Given the description of an element on the screen output the (x, y) to click on. 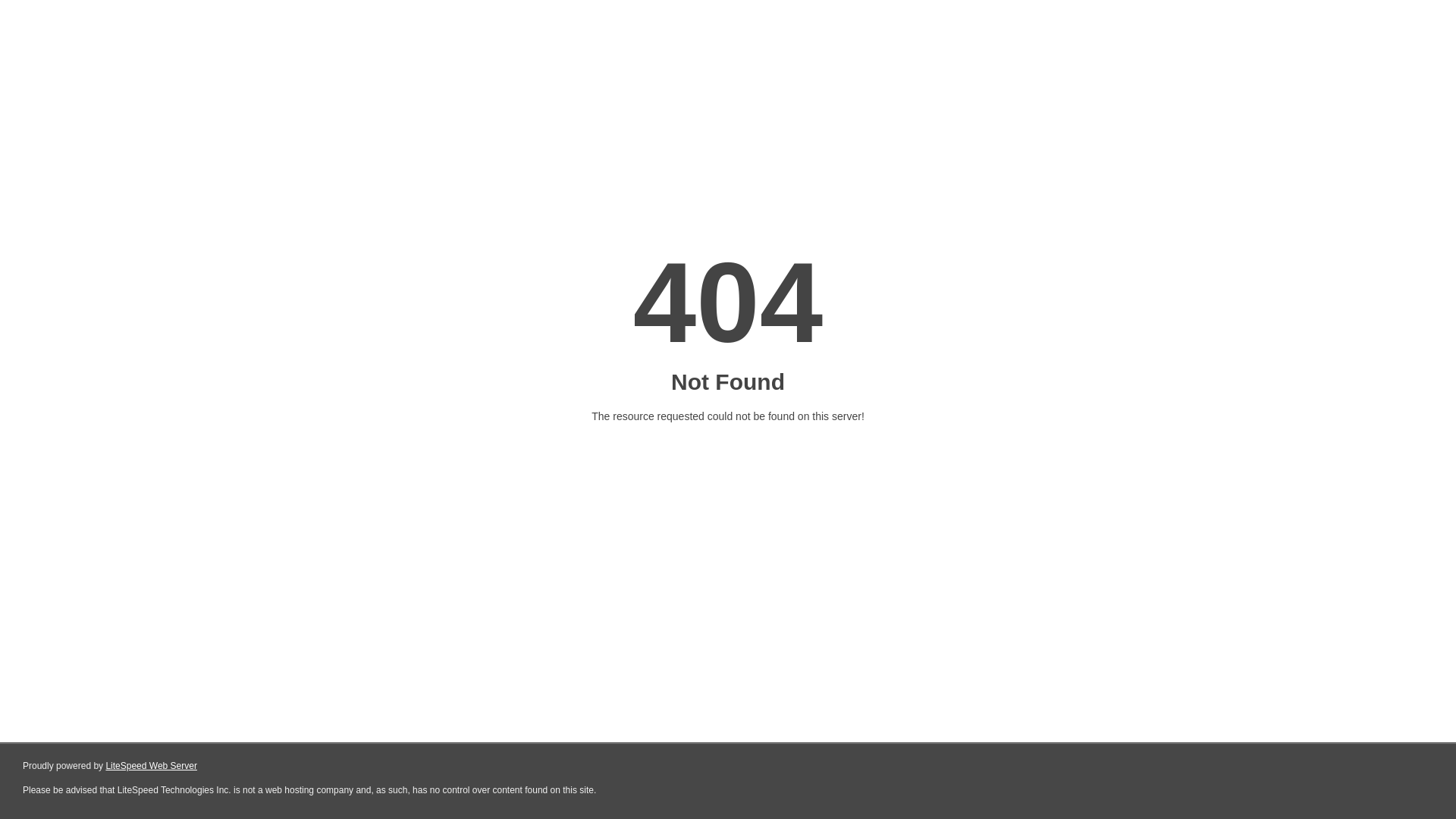
LiteSpeed Web Server Element type: text (151, 765)
